Given the description of an element on the screen output the (x, y) to click on. 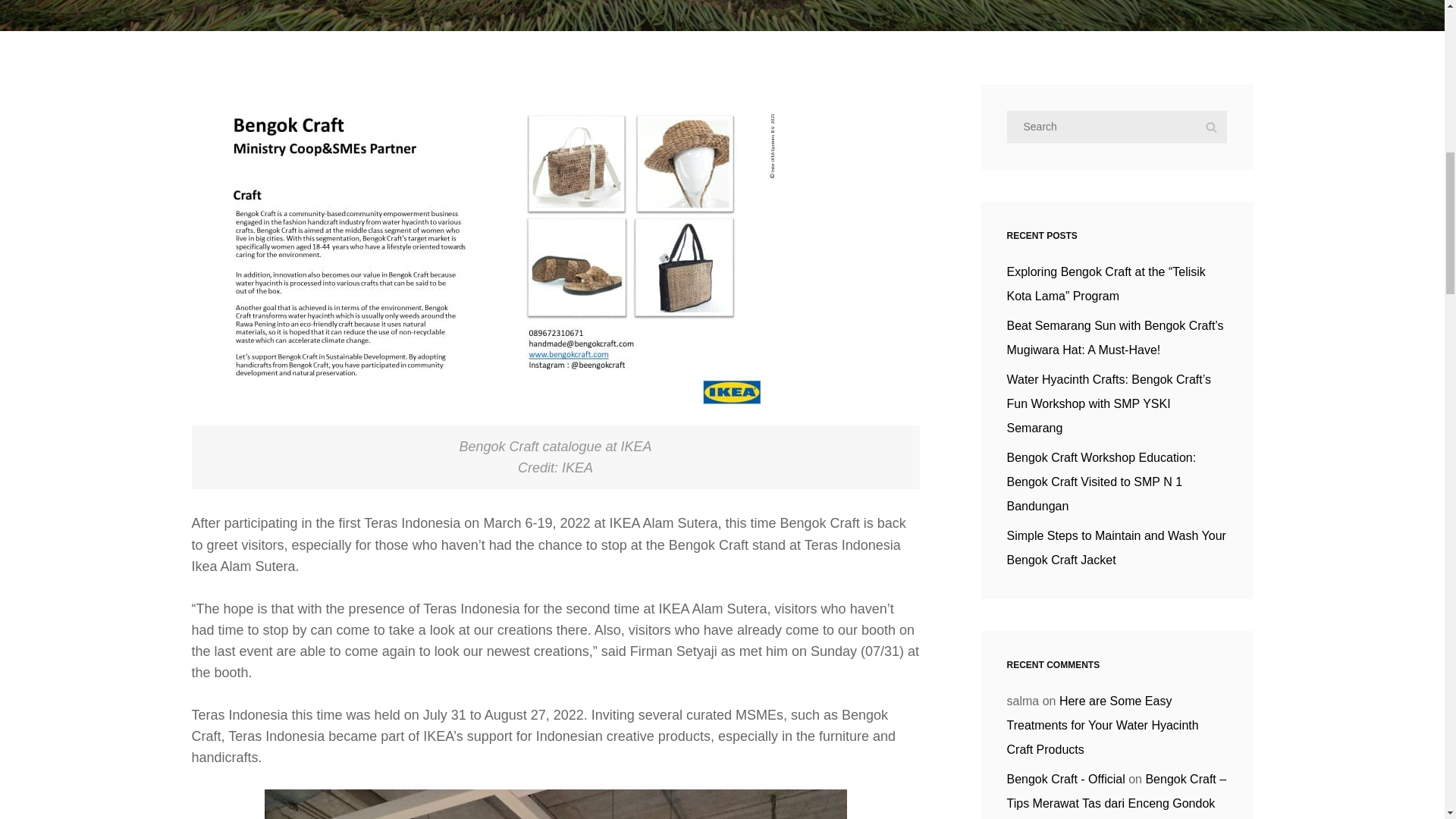
Simple Steps to Maintain and Wash Your Bengok Craft Jacket (1116, 547)
Bengok Craft - Official (1066, 779)
Search (1210, 126)
